Given the description of an element on the screen output the (x, y) to click on. 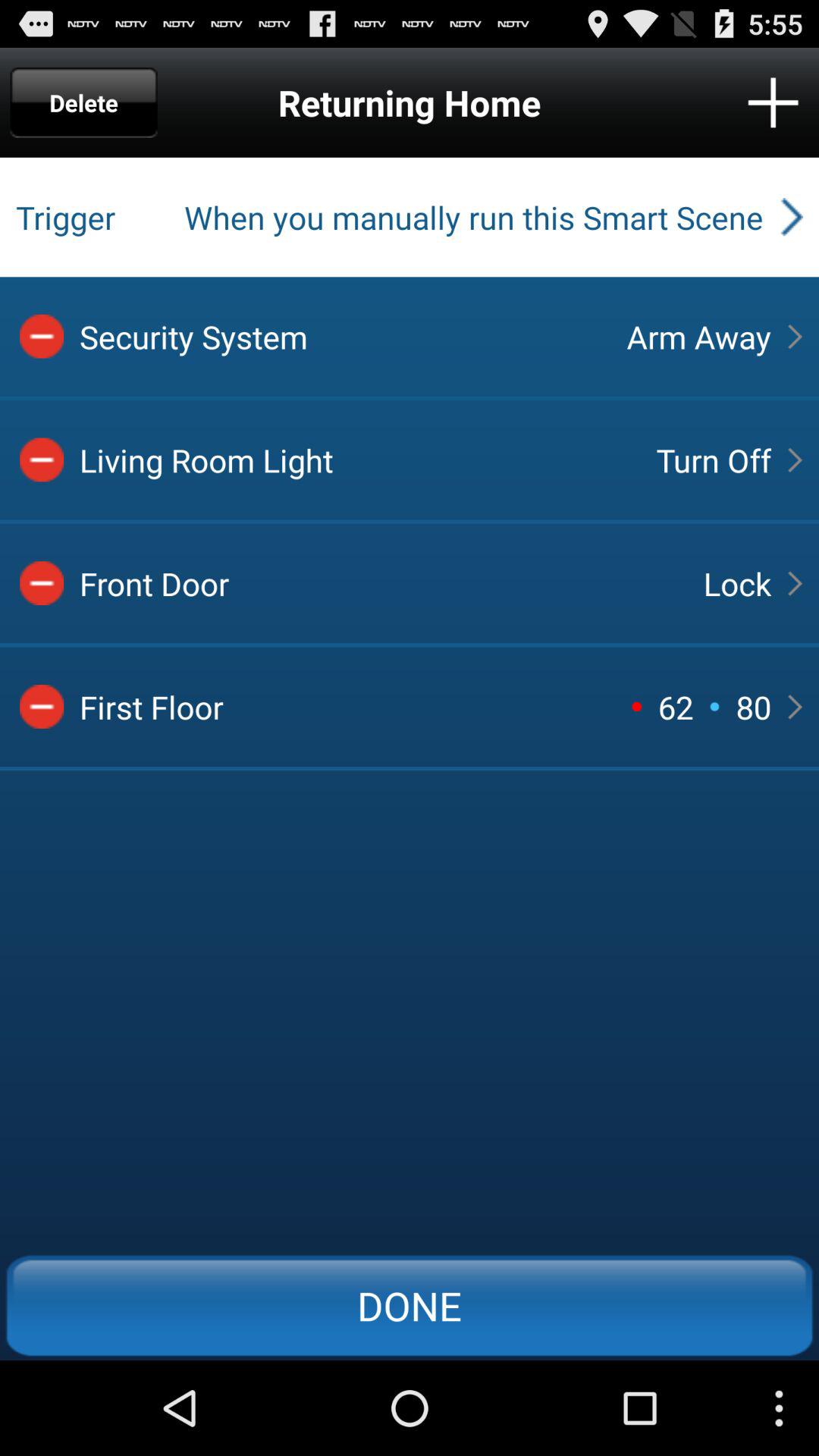
click button above done button (753, 706)
